Given the description of an element on the screen output the (x, y) to click on. 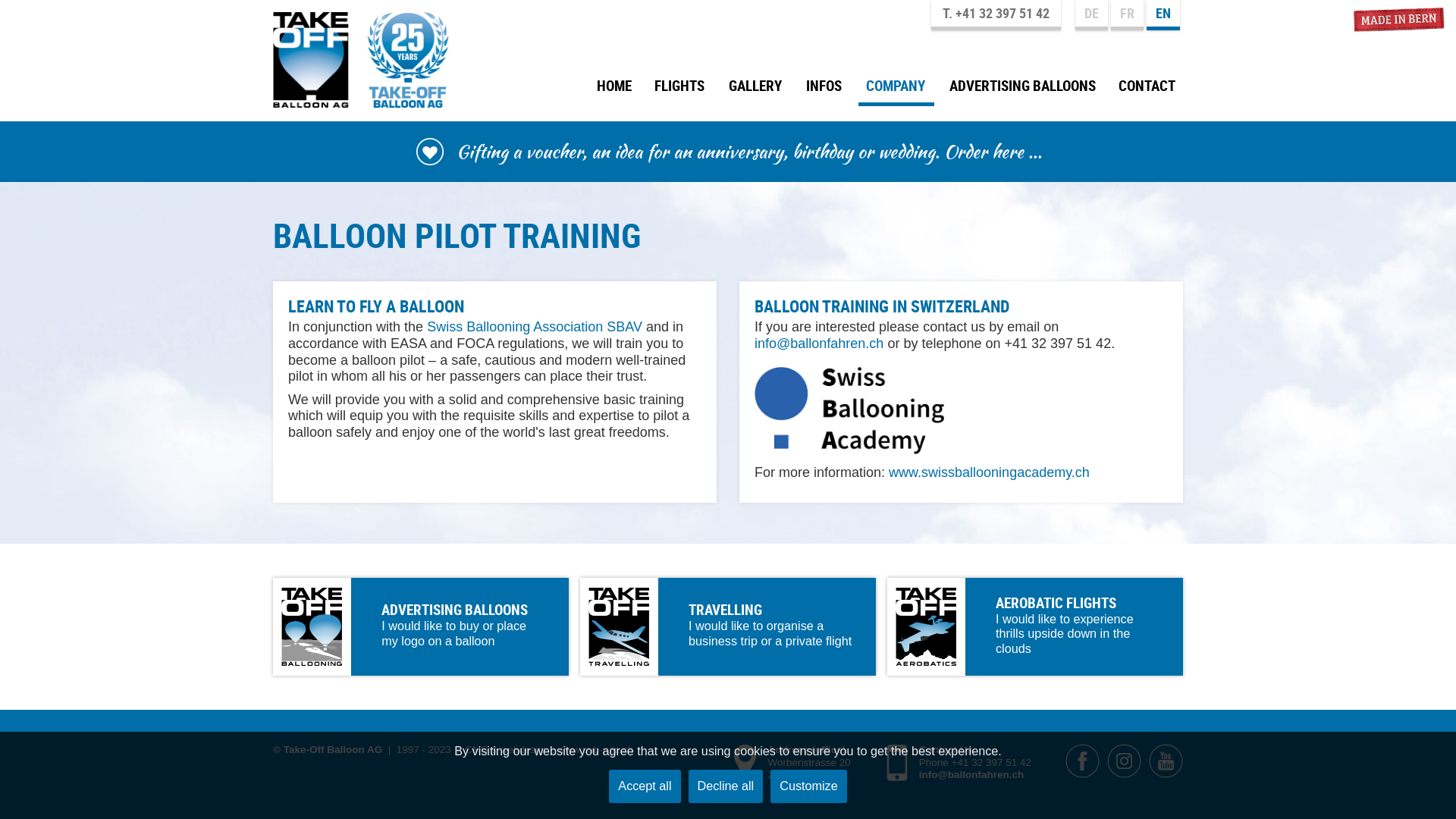
TRAVELLING Element type: text (725, 609)
www.pub-rutz.ch Element type: text (595, 749)
Accept all Element type: text (644, 785)
CONTACT Element type: text (1146, 91)
Aerobatic flights Element type: hover (1035, 626)
DE Element type: text (1091, 15)
Gifting a voucher Element type: hover (728, 151)
Advertising balloons Element type: hover (420, 626)
info@ballonfahren.ch Element type: text (971, 774)
Decline all Element type: text (725, 785)
INFOS Element type: text (824, 91)
FLIGHTS Element type: text (679, 91)
www.swissballooningacademy.ch Element type: text (988, 472)
FR Element type: text (1126, 15)
Swiss Ballooning Association SBAV Element type: text (534, 326)
info@ballonfahren.ch Element type: text (818, 343)
COMPANY Element type: text (896, 91)
EN Element type: text (1162, 15)
GALLERY Element type: text (755, 91)
ADVERTISING BALLOONS Element type: text (454, 609)
AEROBATIC FLIGHTS Element type: text (1055, 602)
Travelling Element type: hover (727, 626)
Customize Element type: text (808, 785)
HOME Element type: text (614, 91)
ADVERTISING BALLOONS Element type: text (1022, 91)
